Given the description of an element on the screen output the (x, y) to click on. 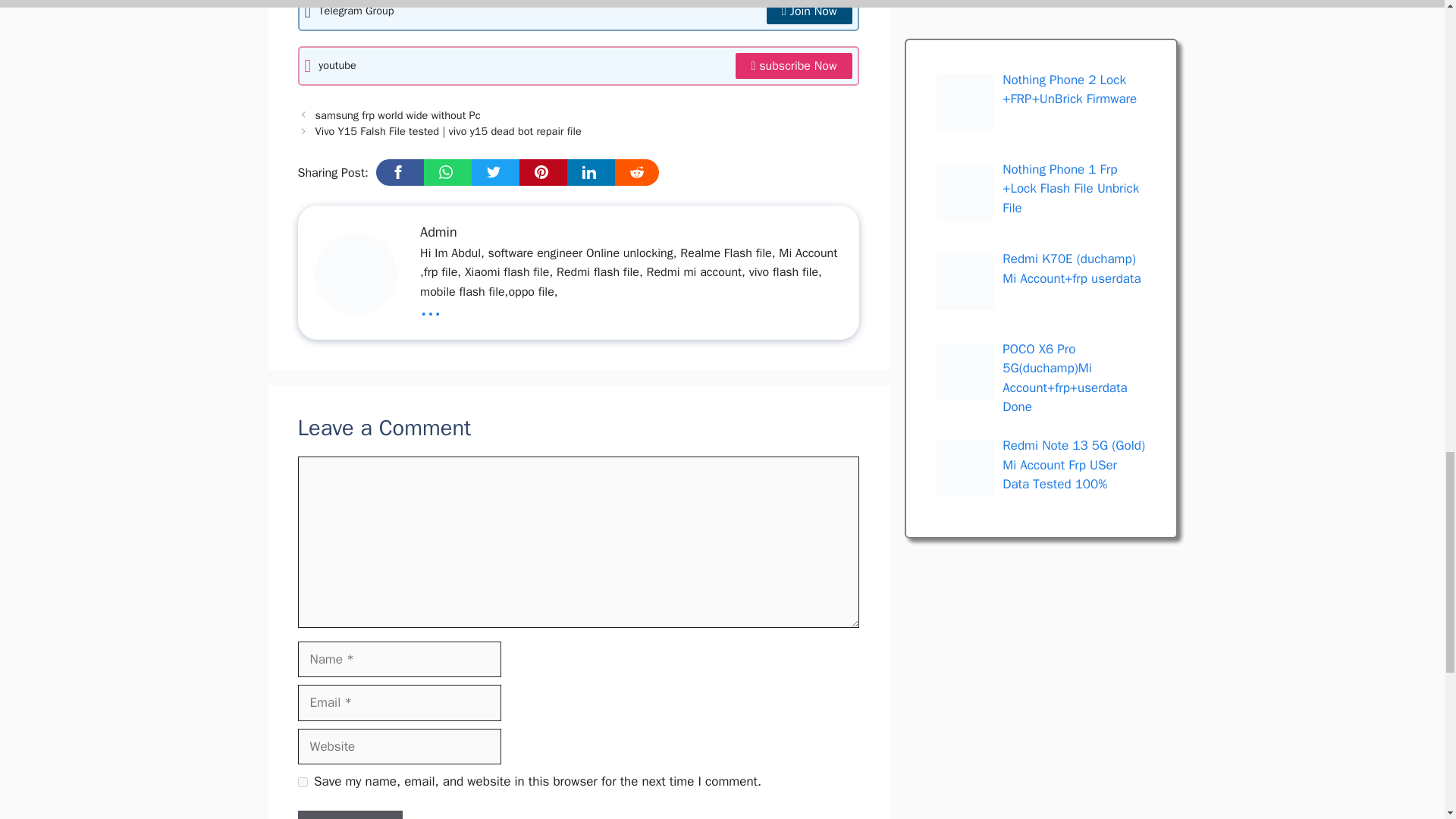
yes (302, 782)
Join Now (809, 12)
samsung frp world wide without Pc (397, 115)
Post Comment (349, 814)
subscribe Now (793, 65)
